Given the description of an element on the screen output the (x, y) to click on. 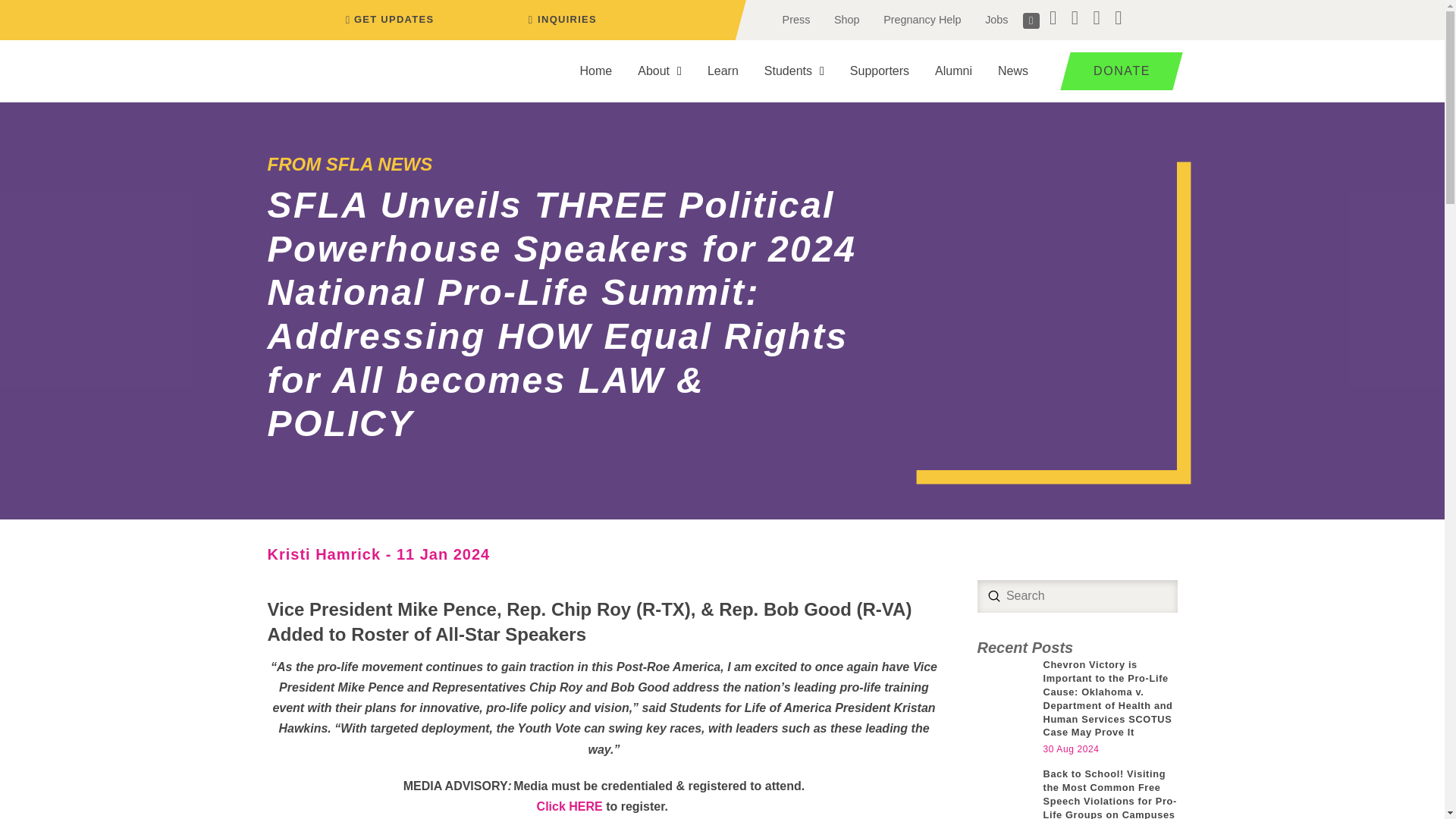
Home (596, 71)
Alumni (953, 71)
Pregnancy Help (921, 20)
Learn (722, 71)
Supporters (879, 71)
Press (796, 20)
DONATE (1115, 71)
Students (794, 71)
Shop (846, 20)
GET UPDATES (386, 20)
